Given the description of an element on the screen output the (x, y) to click on. 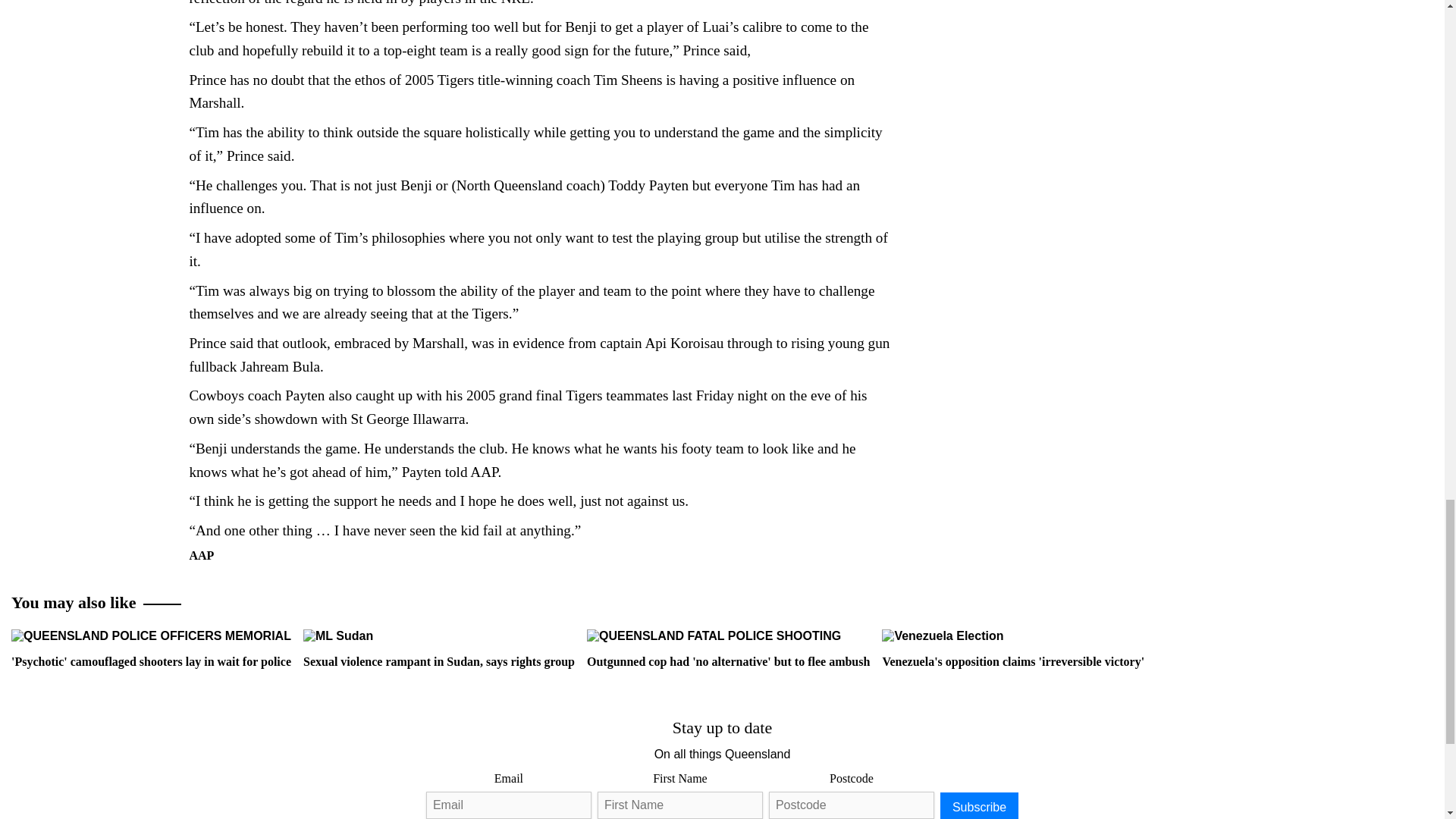
Venezuela's opposition claims 'irreversible victory' (942, 635)
Outgunned cop had 'no alternative' but to flee ambush (713, 635)
Sexual violence rampant in Sudan, says rights group (337, 635)
'Psychotic' camouflaged shooters lay in wait for police (151, 648)
Sexual violence rampant in Sudan, says rights group (438, 648)
Outgunned cop had 'no alternative' but to flee ambush (727, 648)
'Psychotic' camouflaged shooters lay in wait for police (151, 635)
